Given the description of an element on the screen output the (x, y) to click on. 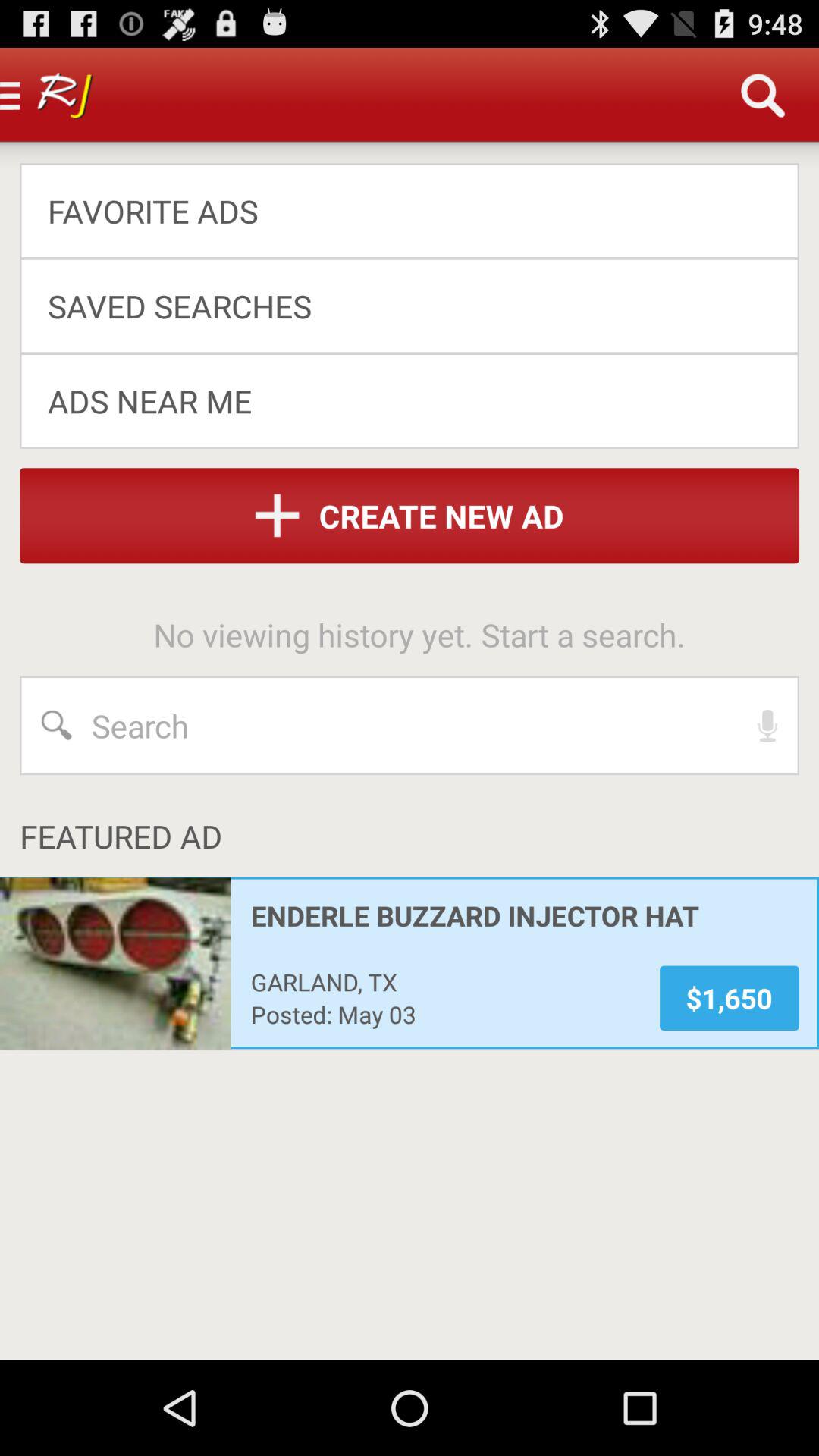
tap the saved searches (399, 305)
